Given the description of an element on the screen output the (x, y) to click on. 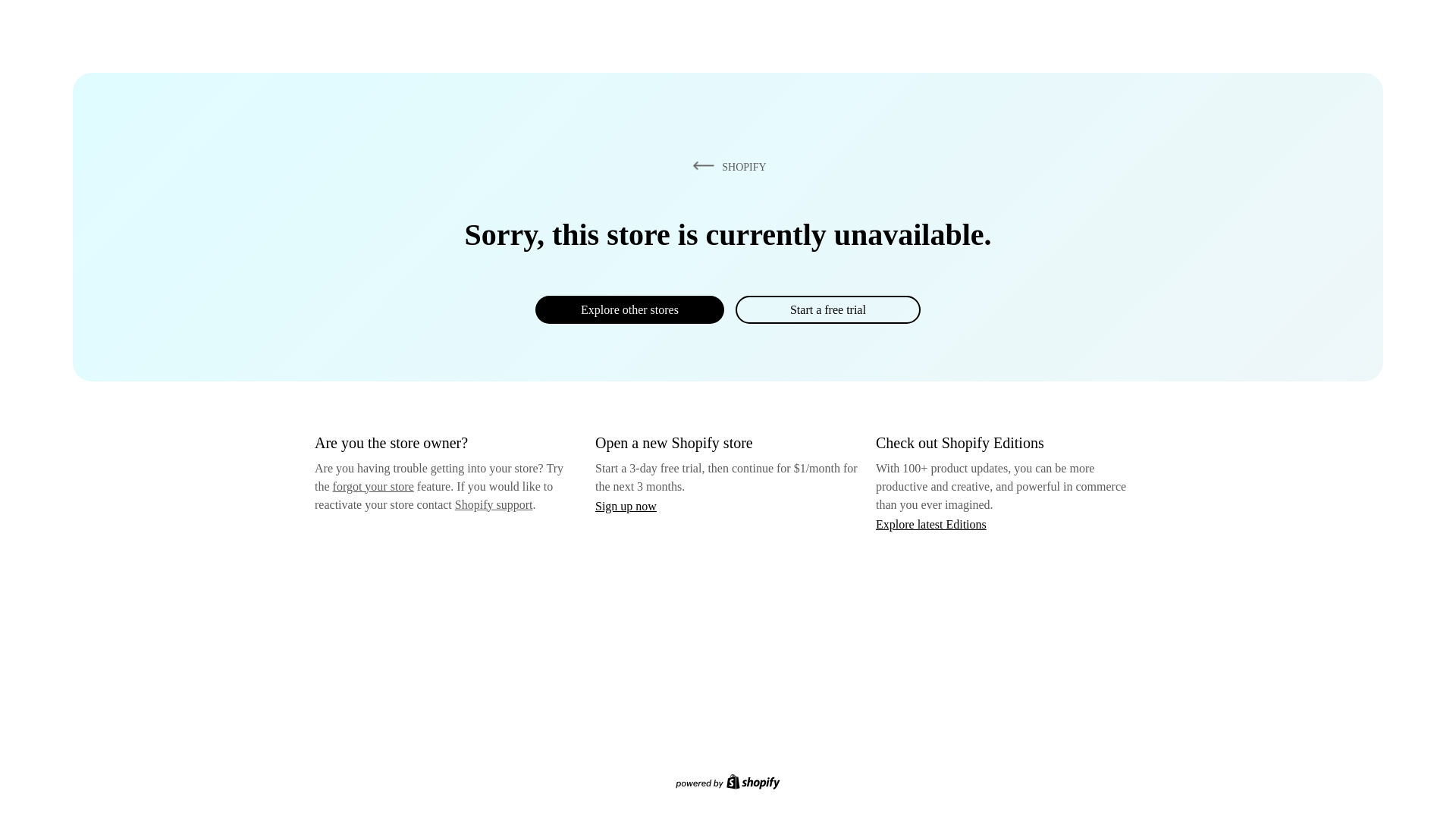
Explore latest Editions (931, 523)
Start a free trial (827, 309)
Shopify support (493, 504)
Sign up now (625, 505)
Explore other stores (629, 309)
SHOPIFY (726, 166)
forgot your store (373, 486)
